Given the description of an element on the screen output the (x, y) to click on. 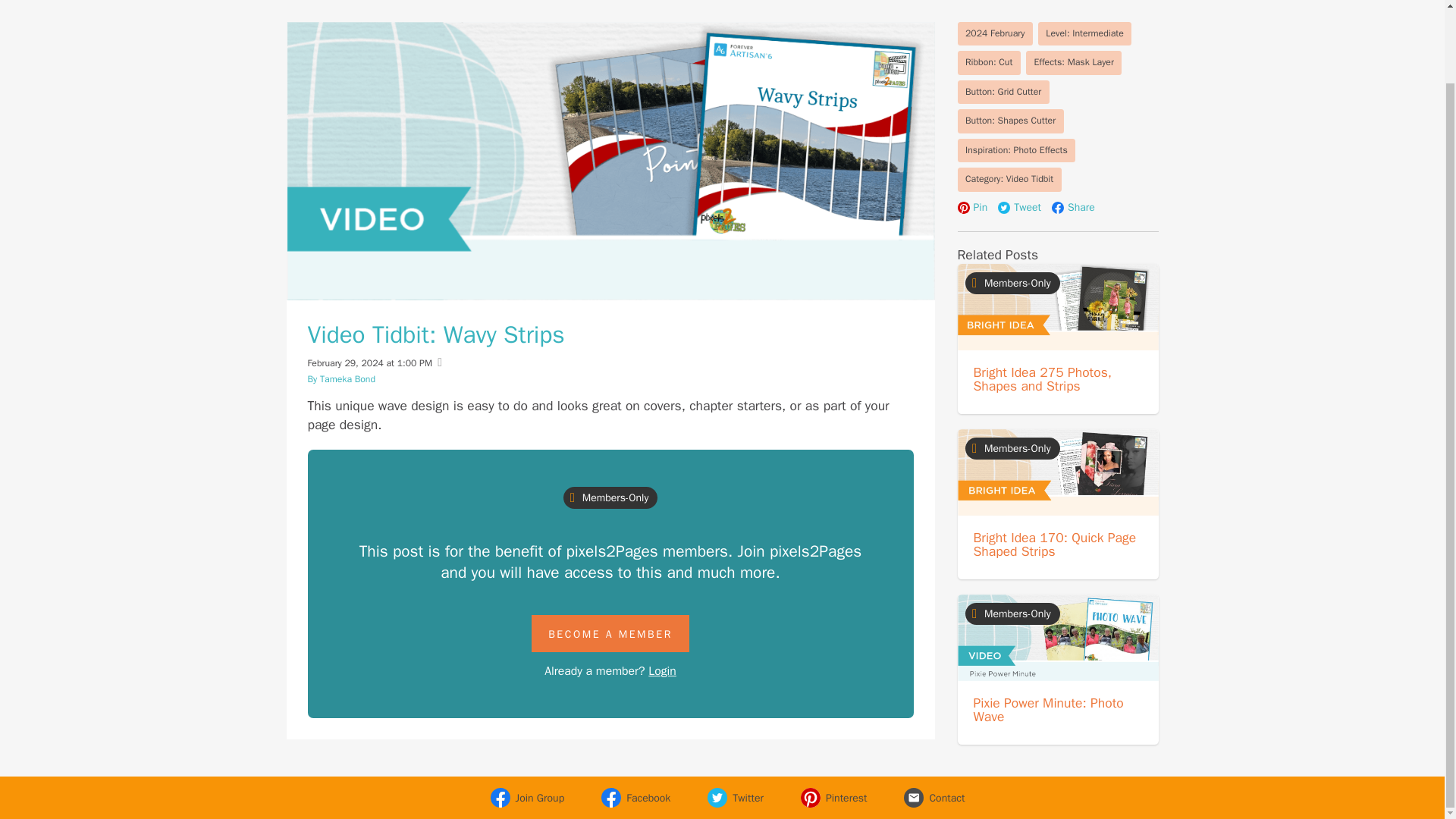
Pixie Power Minute: Photo Wave (1049, 709)
Tweet (1019, 207)
Effects: Mask Layer (1074, 62)
Inspiration: Photo Effects (1015, 150)
Button: Grid Cutter (1002, 92)
Twitter (730, 797)
Twitter (730, 797)
Bright Idea 170: Quick Page Shaped Strips (1055, 544)
Pinterest (828, 797)
Contact (929, 797)
